Given the description of an element on the screen output the (x, y) to click on. 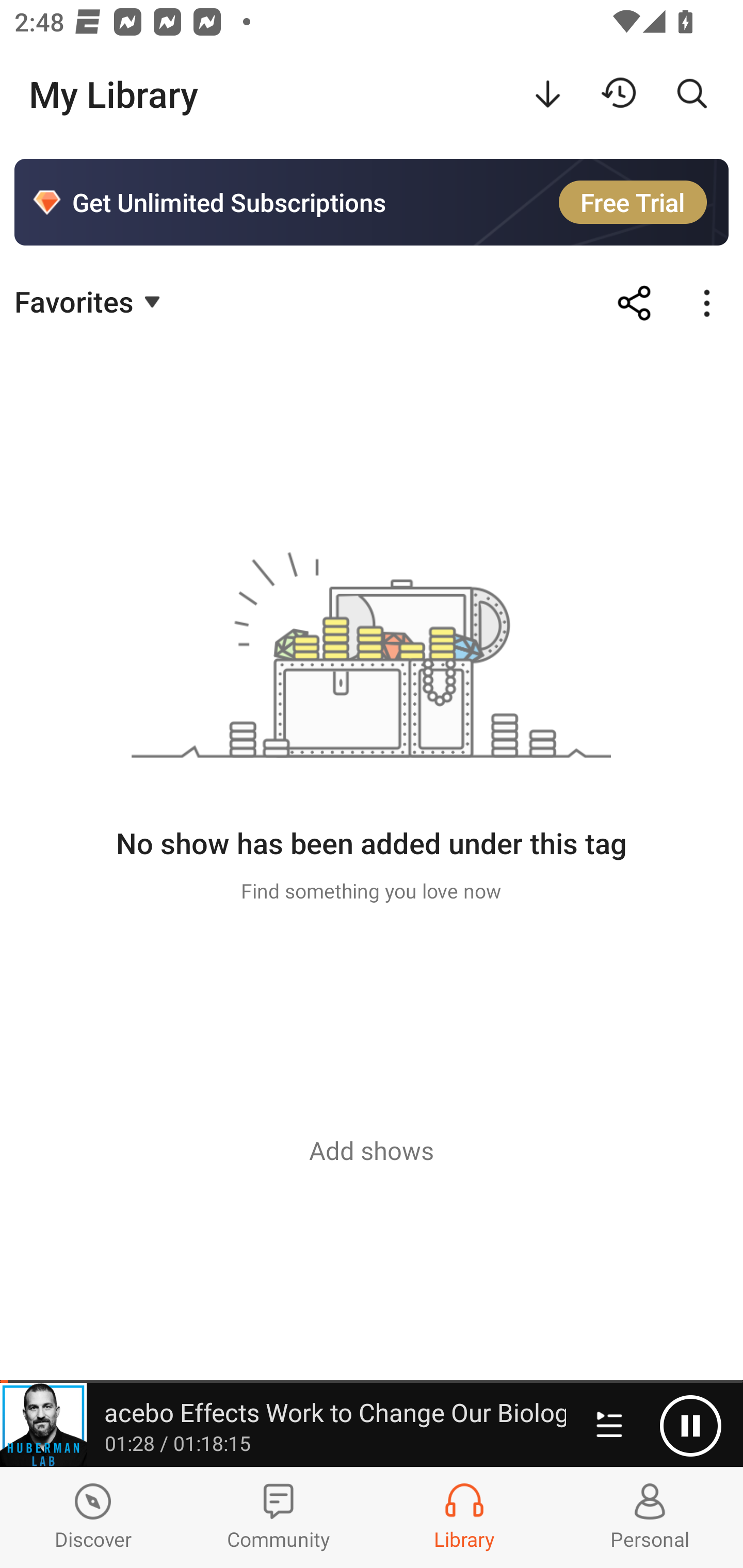
Get Unlimited Subscriptions Free Trial (371, 202)
Free Trial (632, 202)
Favorites (90, 300)
Add shows (371, 1150)
Pause (690, 1425)
Discover (92, 1517)
Community (278, 1517)
Library (464, 1517)
Profiles and Settings Personal (650, 1517)
